Given the description of an element on the screen output the (x, y) to click on. 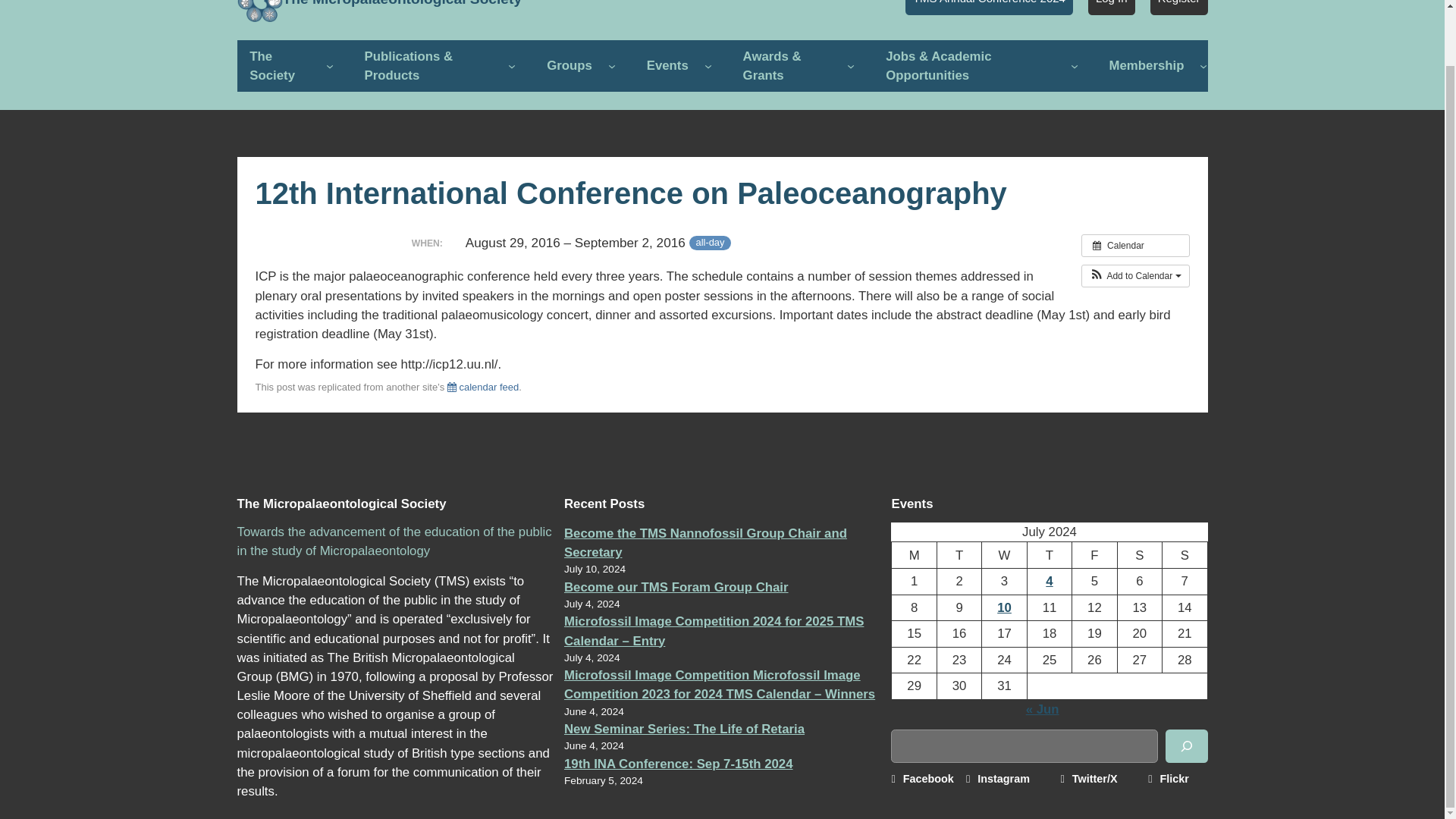
TMS Annual Conference 2024 (989, 7)
Log In (1111, 7)
Events (667, 65)
Friday (1093, 555)
Saturday (1138, 555)
View all events (1135, 244)
Monday (913, 555)
Wednesday (1003, 555)
Thursday (1048, 555)
The Society (278, 65)
Tuesday (958, 555)
iCalendar feed (482, 387)
Groups (569, 65)
Register (1179, 7)
The Micropalaeontological Society (401, 3)
